Given the description of an element on the screen output the (x, y) to click on. 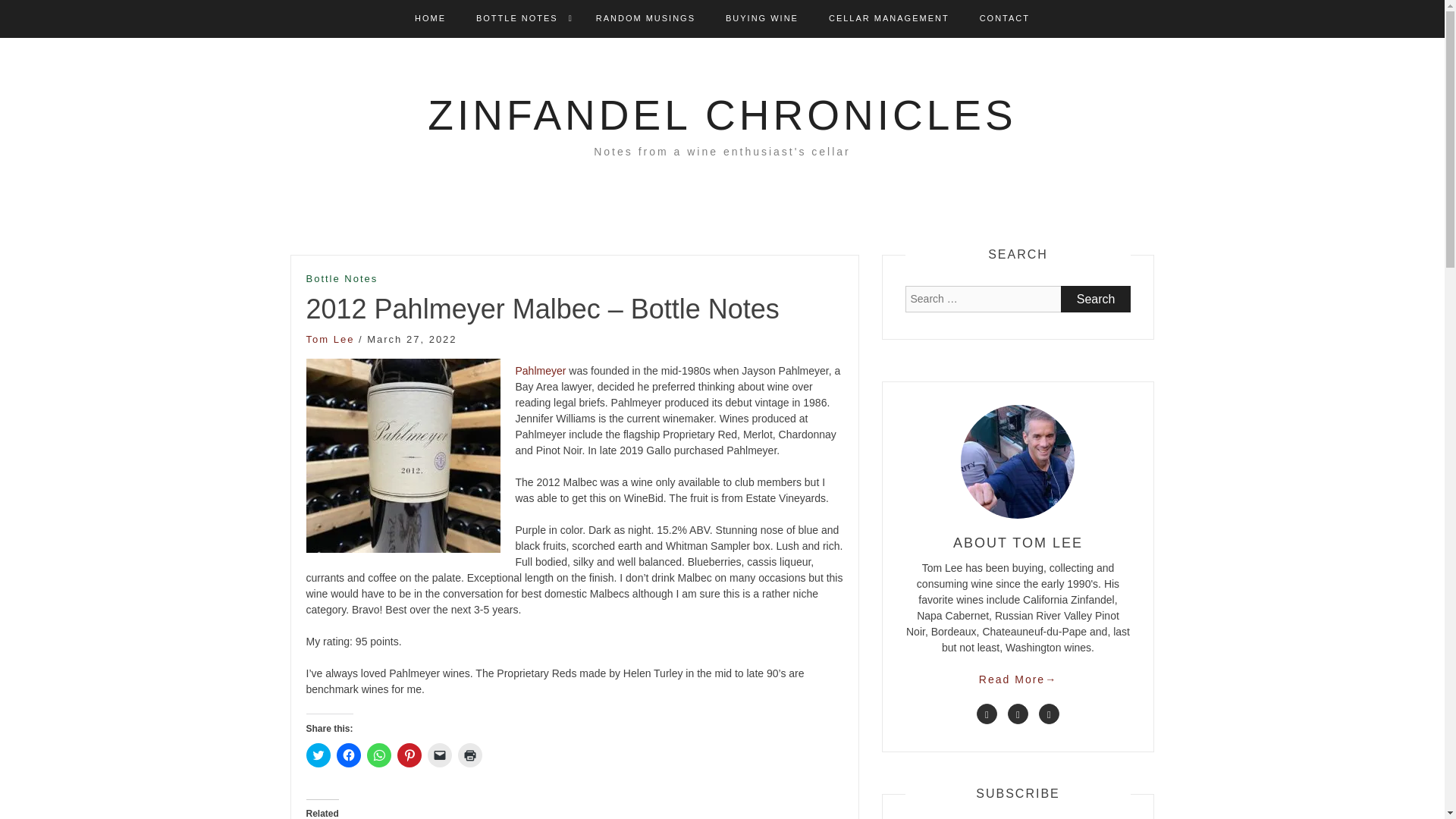
BUYING WINE (761, 18)
Tom Lee (330, 338)
Search (1096, 298)
CELLAR MANAGEMENT (888, 18)
instagram (1049, 713)
RANDOM MUSINGS (645, 18)
Click to share on Twitter (317, 754)
Click to share on WhatsApp (378, 754)
linkedin (1017, 713)
CONTACT (1004, 18)
Click to share on Pinterest (409, 754)
Click to print (469, 754)
ZINFANDEL CHRONICLES (722, 114)
twitter (986, 713)
Click to email a link to a friend (439, 754)
